Given the description of an element on the screen output the (x, y) to click on. 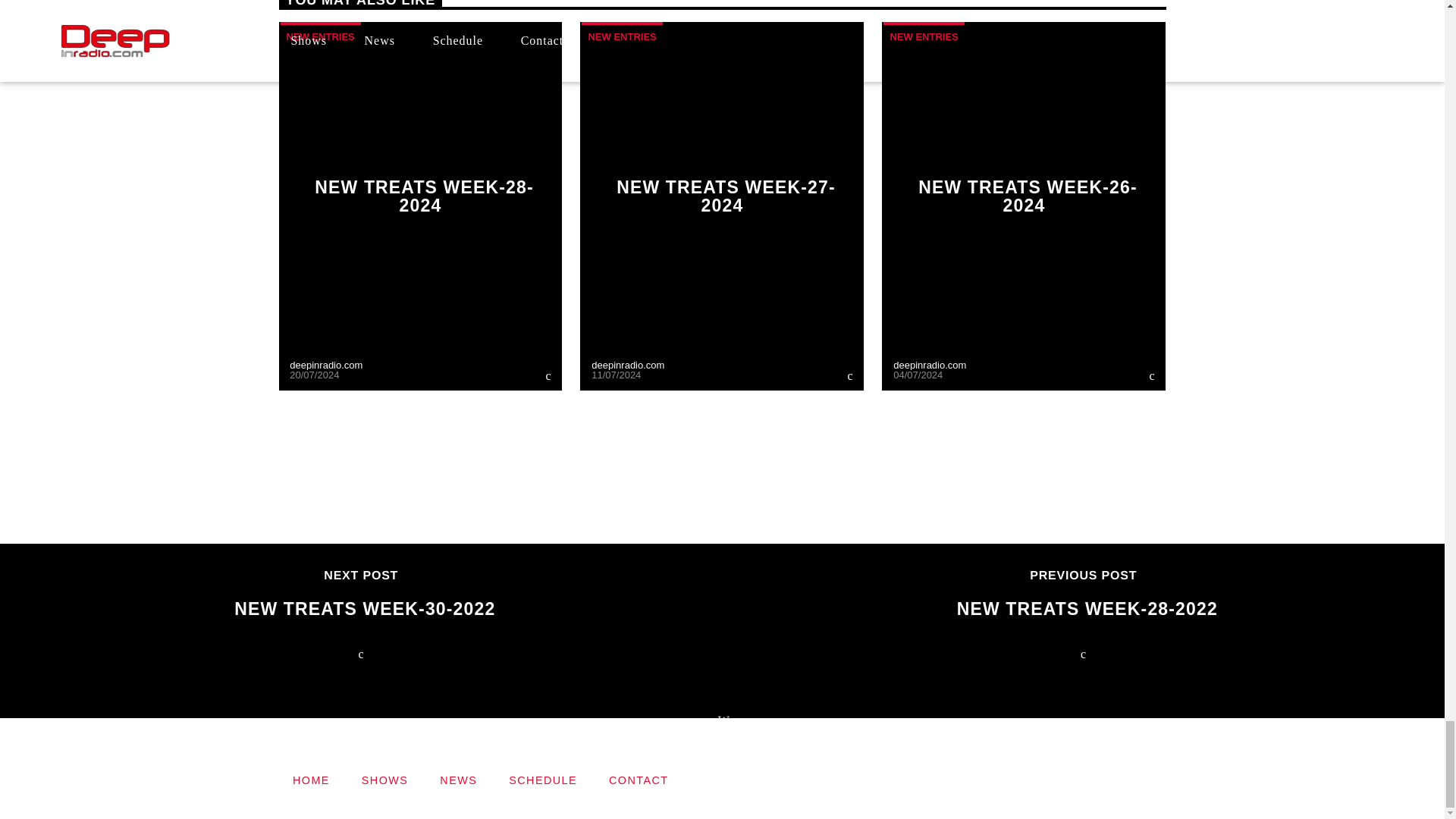
Posts by deepinradio.com (929, 365)
Posts by deepinradio.com (627, 365)
Posts by deepinradio.com (325, 365)
